Given the description of an element on the screen output the (x, y) to click on. 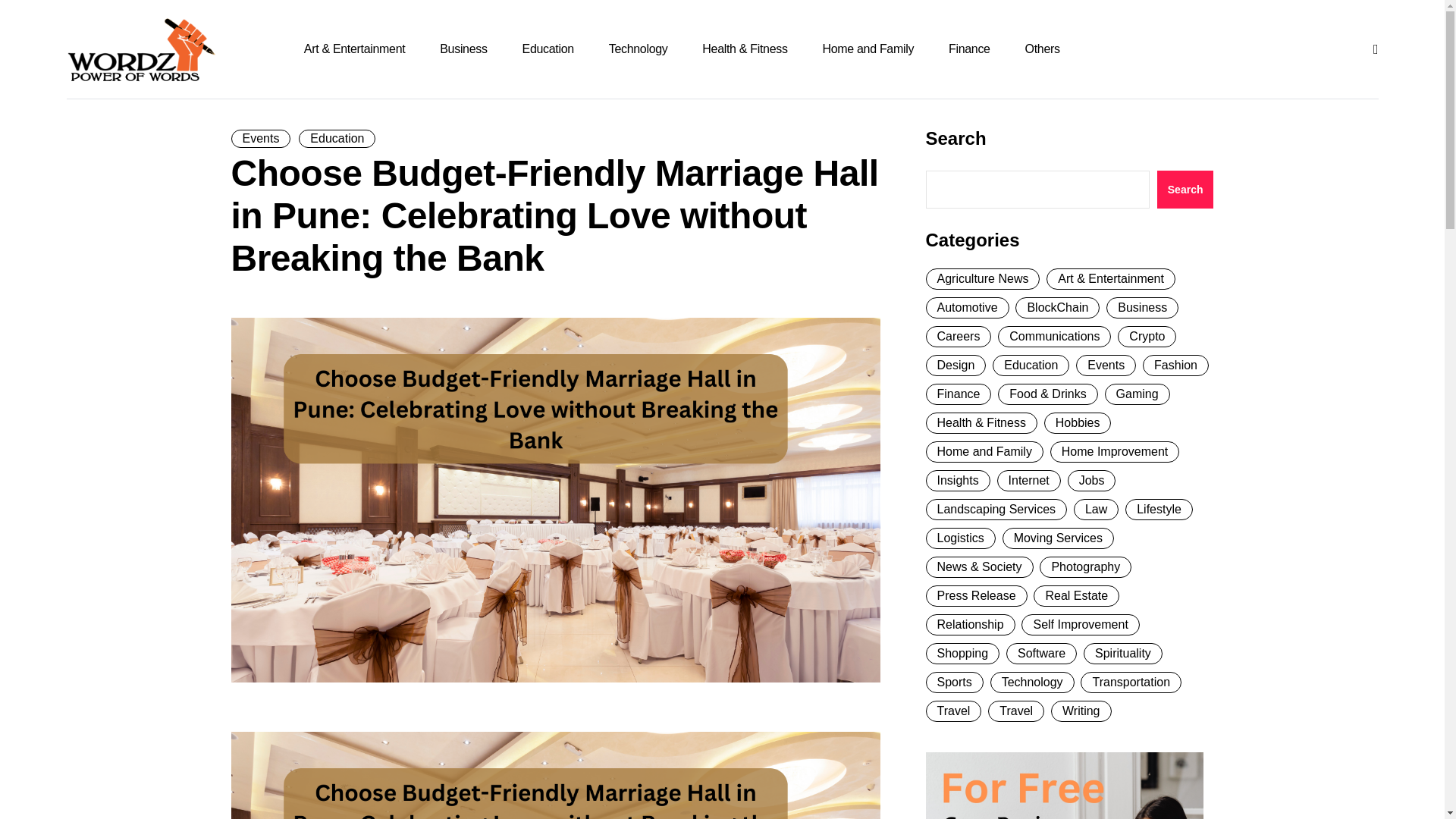
Technology (638, 49)
Finance (969, 49)
Home and Family (868, 49)
Business (462, 49)
Education (336, 138)
Events (259, 138)
Others (1041, 49)
Education (547, 49)
